Given the description of an element on the screen output the (x, y) to click on. 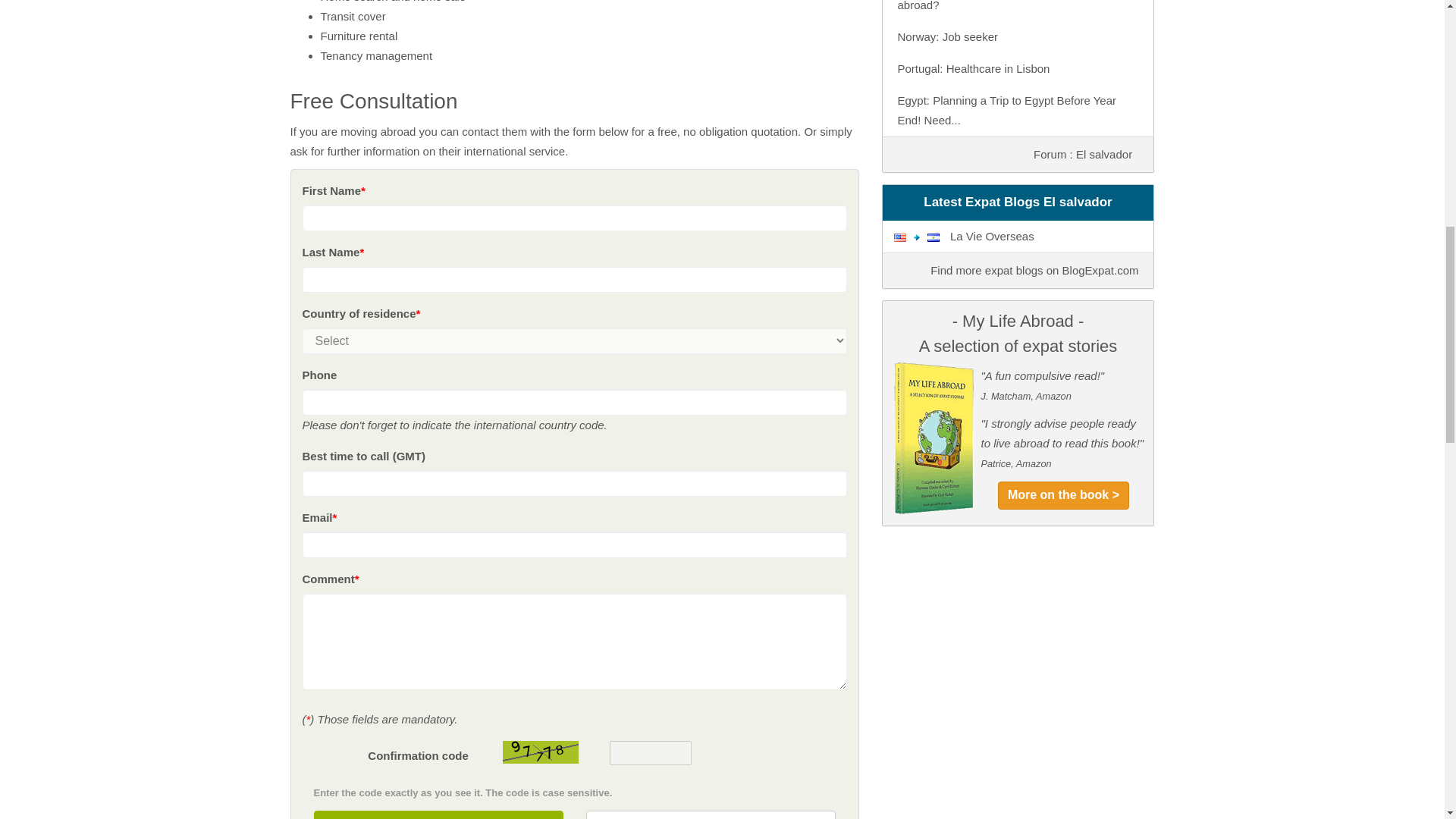
Departure: What about starting a career abroad? (997, 5)
Cancel (709, 814)
Submit (438, 814)
Submit (438, 814)
